Given the description of an element on the screen output the (x, y) to click on. 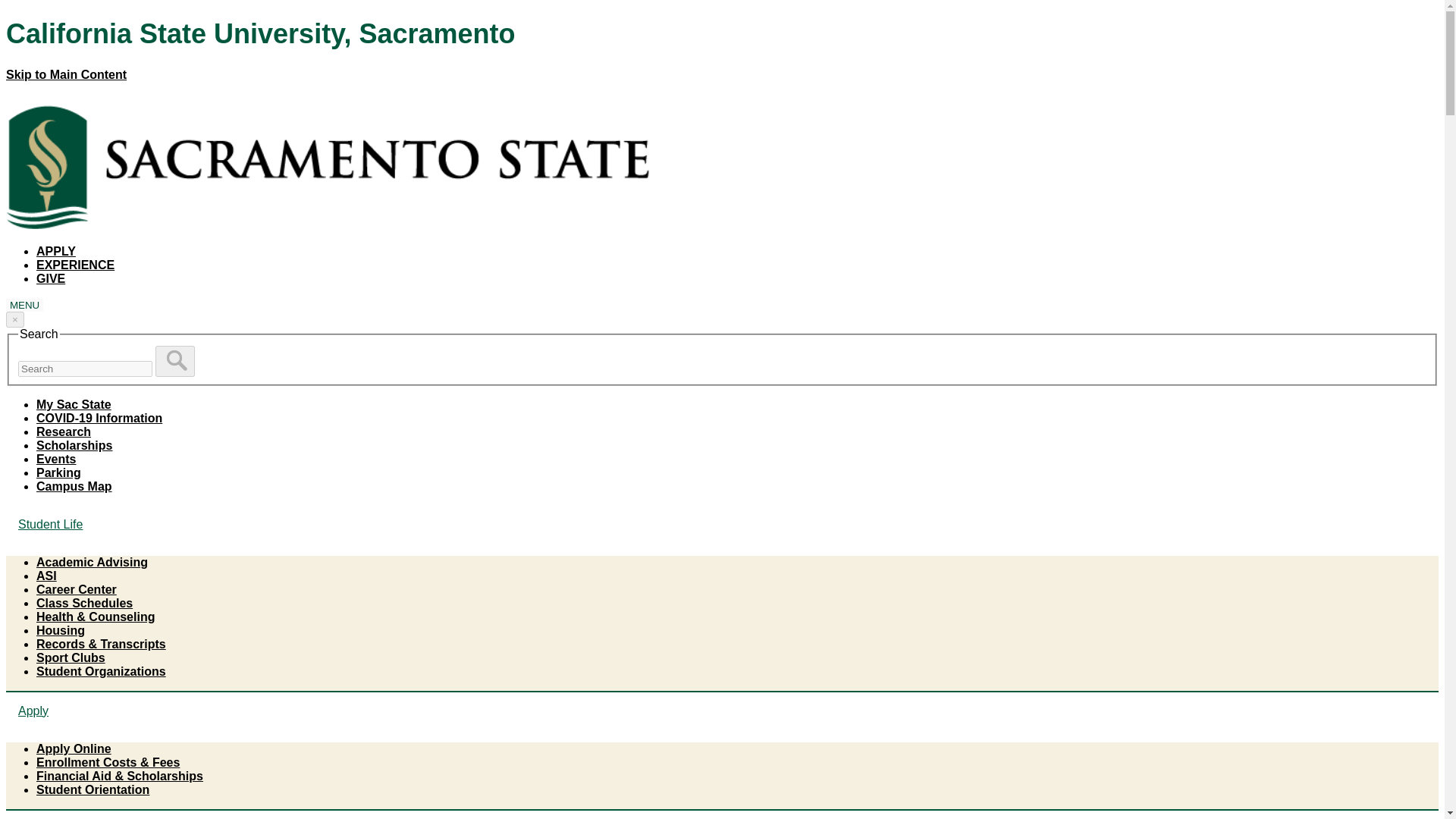
Class Schedules (84, 603)
Housing (60, 630)
Scholarships (74, 445)
Campus Map (74, 486)
Search CSUS.edu (84, 368)
Skip to Main Content (65, 74)
Student Orientation (92, 789)
Research (63, 431)
APPLY (55, 250)
Academic Advising (92, 562)
